Given the description of an element on the screen output the (x, y) to click on. 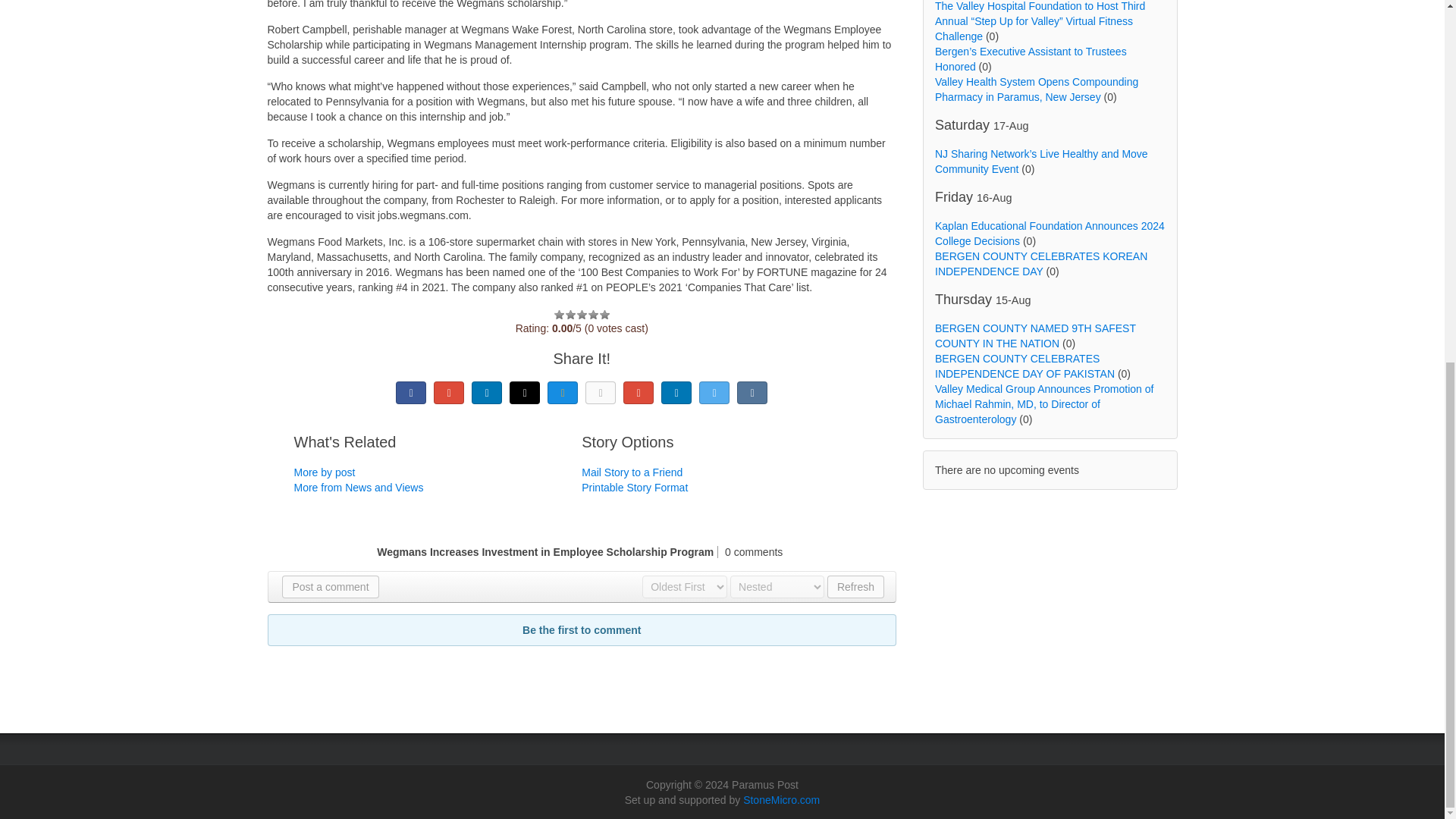
Odnoklassniki (600, 392)
vk (751, 392)
Facebook (411, 392)
Twitter (713, 392)
LinkedIn (486, 392)
Live Journal (524, 392)
Mail.ru (562, 392)
reddit (676, 392)
More by post (324, 472)
